Given the description of an element on the screen output the (x, y) to click on. 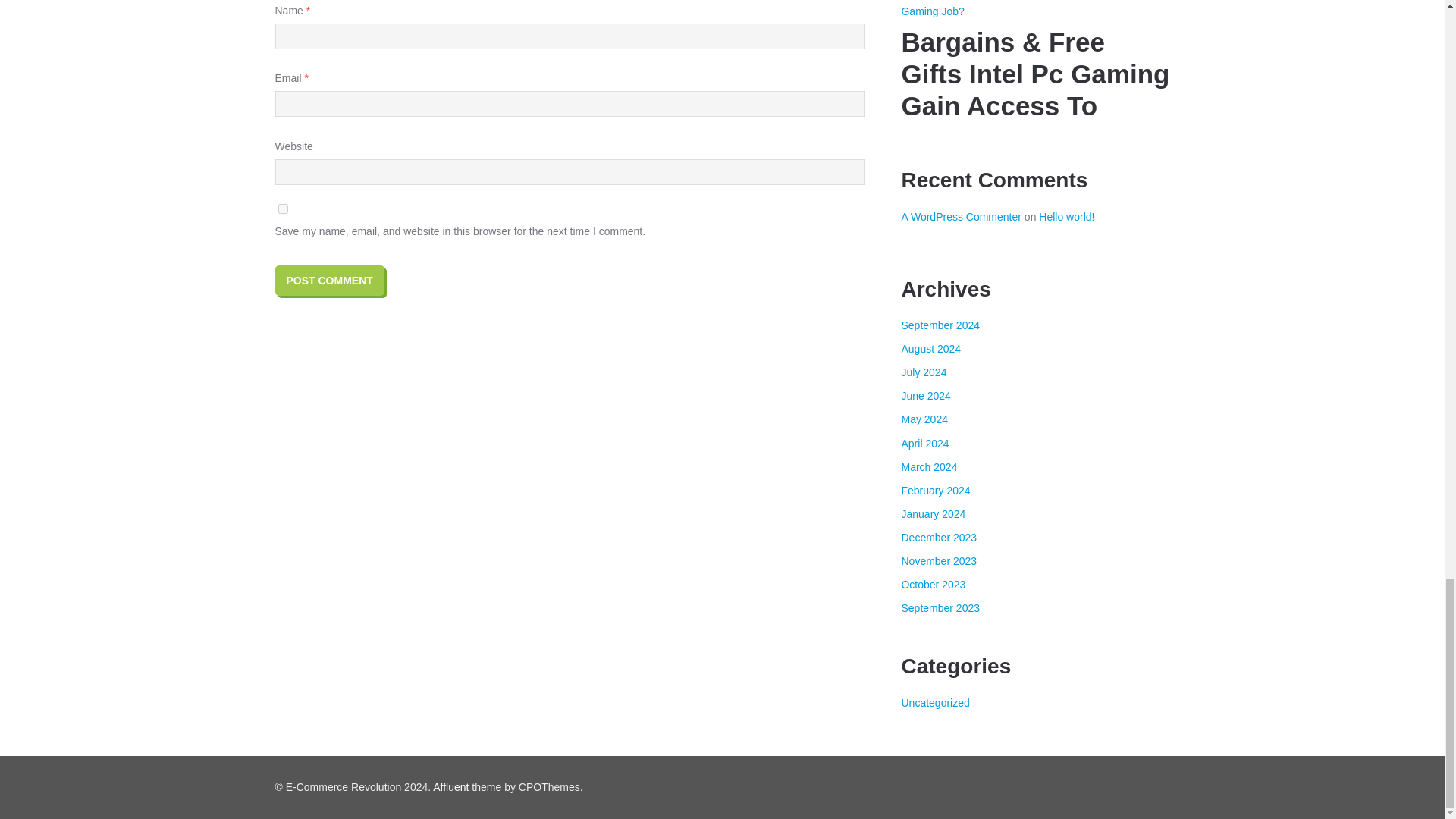
yes (282, 208)
Post Comment (329, 280)
Post Comment (329, 280)
